Given the description of an element on the screen output the (x, y) to click on. 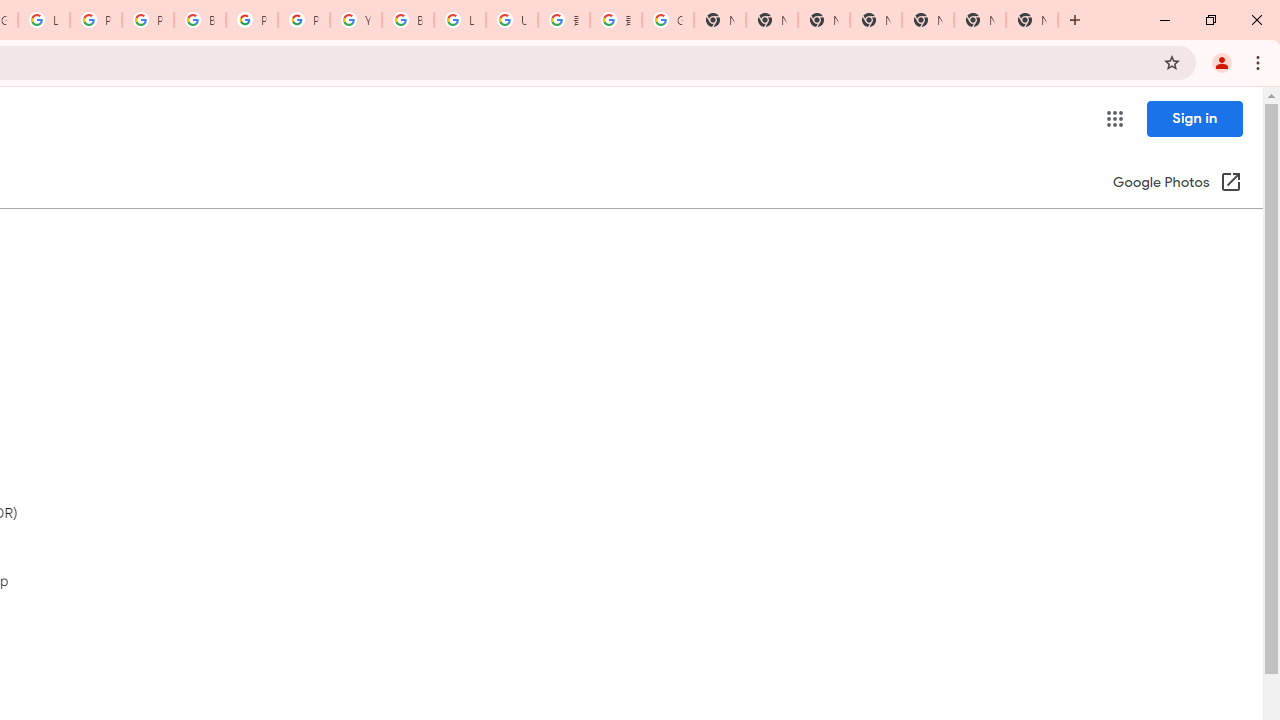
Google Images (667, 20)
Privacy Help Center - Policies Help (147, 20)
New Tab (875, 20)
YouTube (355, 20)
